Given the description of an element on the screen output the (x, y) to click on. 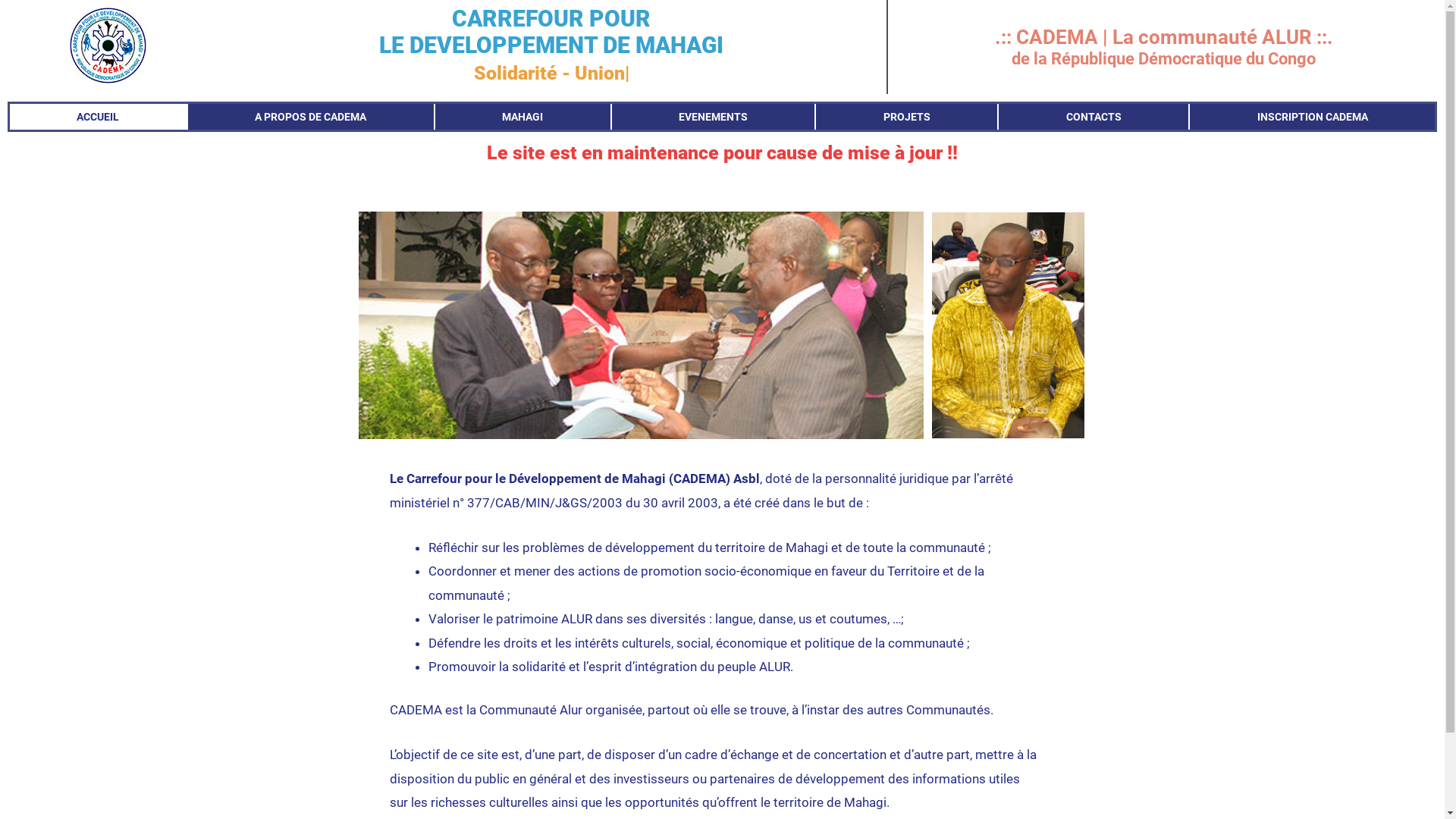
ACCUEIL Element type: text (97, 116)
PROJETS Element type: text (906, 116)
INSCRIPTION CADEMA Element type: text (1311, 116)
MAHAGI Element type: text (522, 116)
EVENEMENTS Element type: text (713, 116)
CONTACTS Element type: text (1093, 116)
A PROPOS DE CADEMA Element type: text (310, 116)
